Given the description of an element on the screen output the (x, y) to click on. 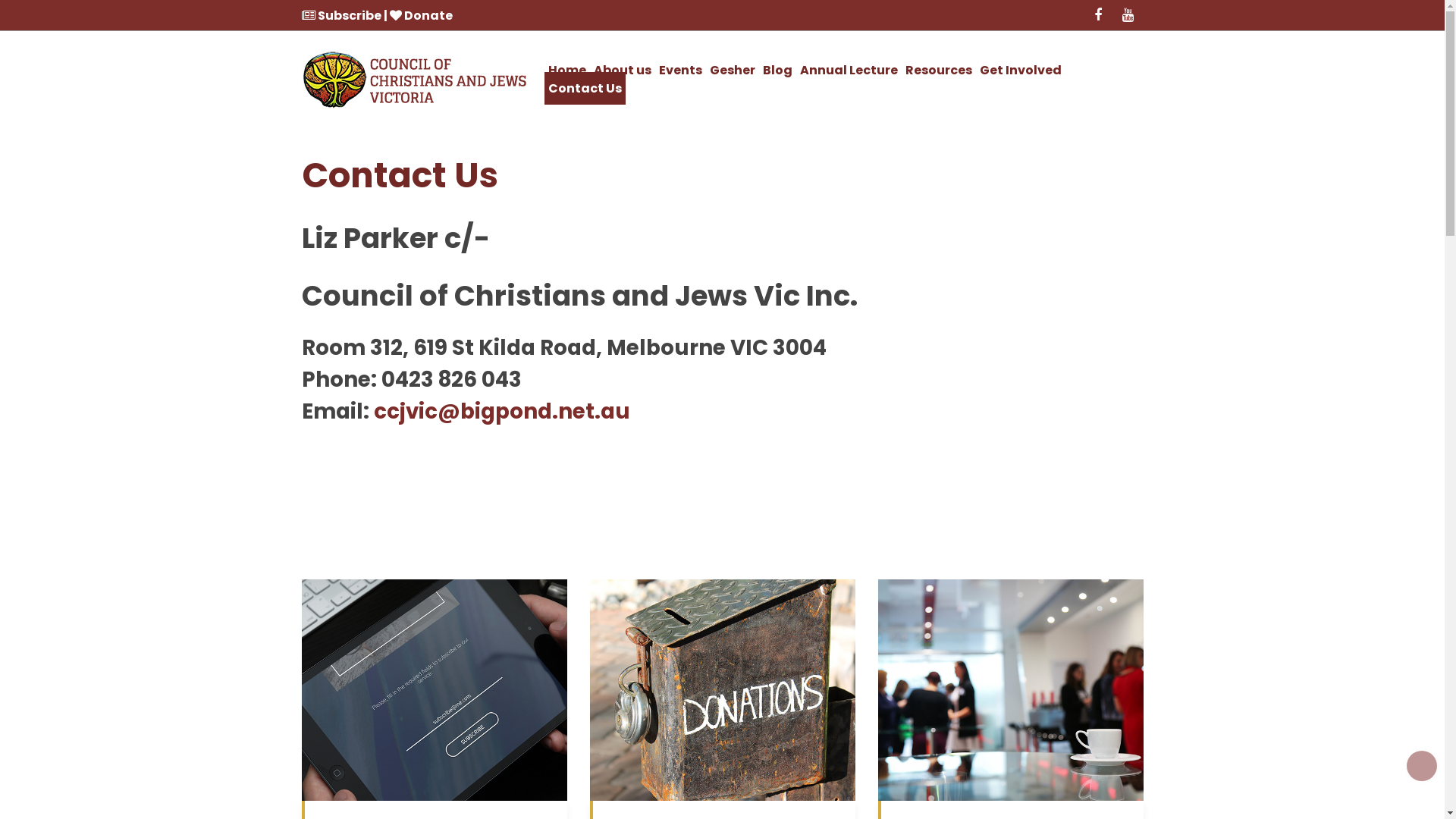
Events Element type: text (680, 69)
ccjvic@bigpond.net.au Element type: text (501, 411)
Gesher Element type: text (731, 69)
Home Element type: text (566, 69)
Blog Element type: text (776, 69)
Resources Element type: text (937, 69)
Contact Us Element type: text (584, 88)
Get Involved Element type: text (1019, 69)
Donate Element type: text (420, 14)
Annual Lecture Element type: text (848, 69)
CCJ Victoria - COUNCIL OF CHRISTIANS AND JEWS VICTORIA Element type: hover (415, 79)
About us Element type: text (622, 69)
Subscribe Element type: text (342, 14)
Top Element type: text (1421, 765)
